Given the description of an element on the screen output the (x, y) to click on. 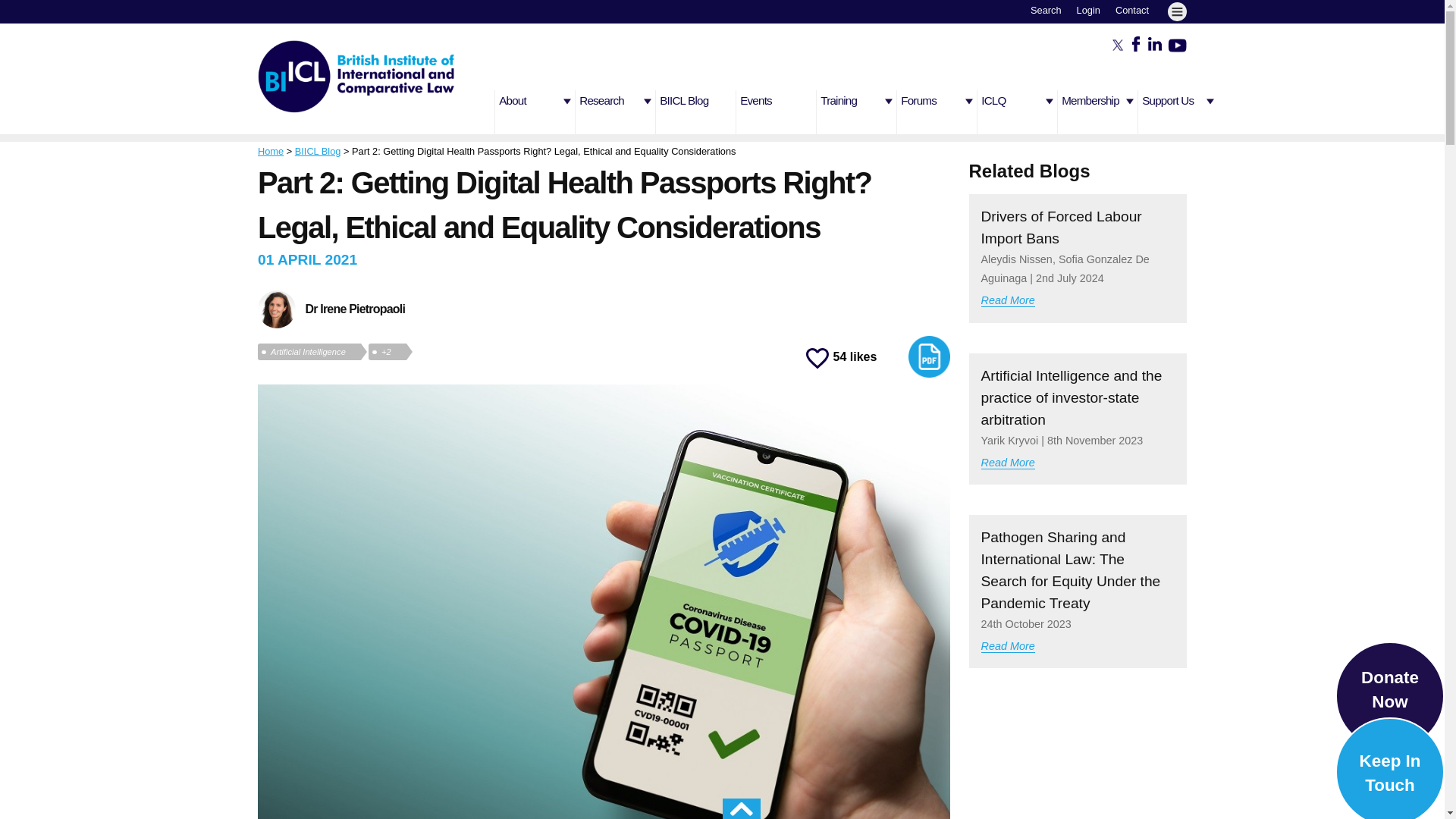
Events (777, 112)
Contact (1131, 9)
BIICL Blog (697, 112)
Contact (1131, 9)
Login (1088, 9)
Search (1045, 9)
Login (1088, 9)
BIICL Blog (697, 112)
Search (1045, 9)
Training (857, 112)
About (536, 112)
Events (777, 112)
Research (617, 112)
About (536, 112)
ICLQ (1018, 112)
